Given the description of an element on the screen output the (x, y) to click on. 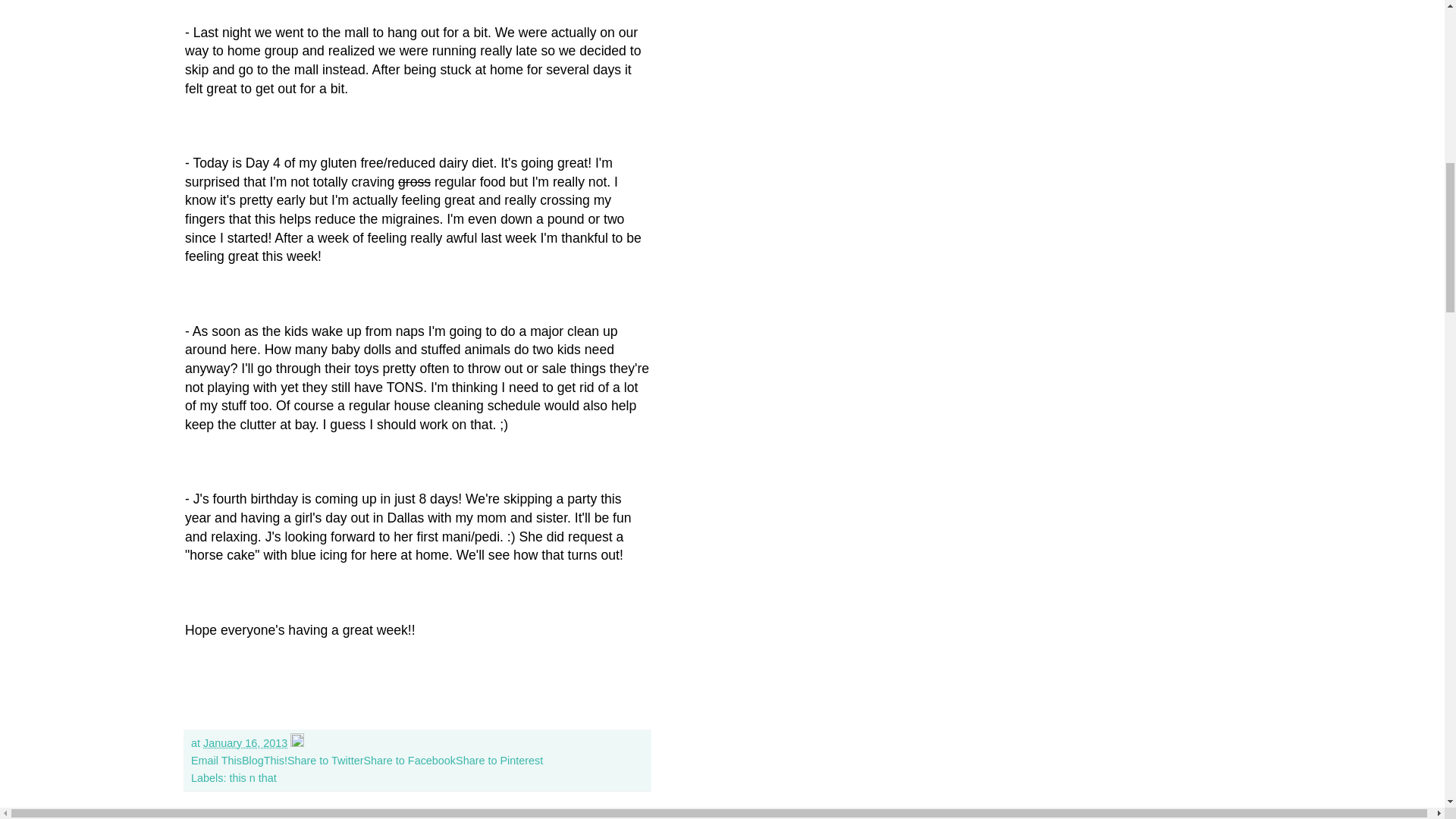
this n that (252, 777)
January 16, 2013 (244, 743)
Share to Pinterest (499, 760)
Share to Facebook (408, 760)
Share to Facebook (408, 760)
Share to Twitter (325, 760)
BlogThis! (263, 760)
Share to Pinterest (499, 760)
Email This (215, 760)
Email This (215, 760)
Edit Post (296, 743)
permanent link (244, 743)
Share to Twitter (325, 760)
BlogThis! (263, 760)
